Given the description of an element on the screen output the (x, y) to click on. 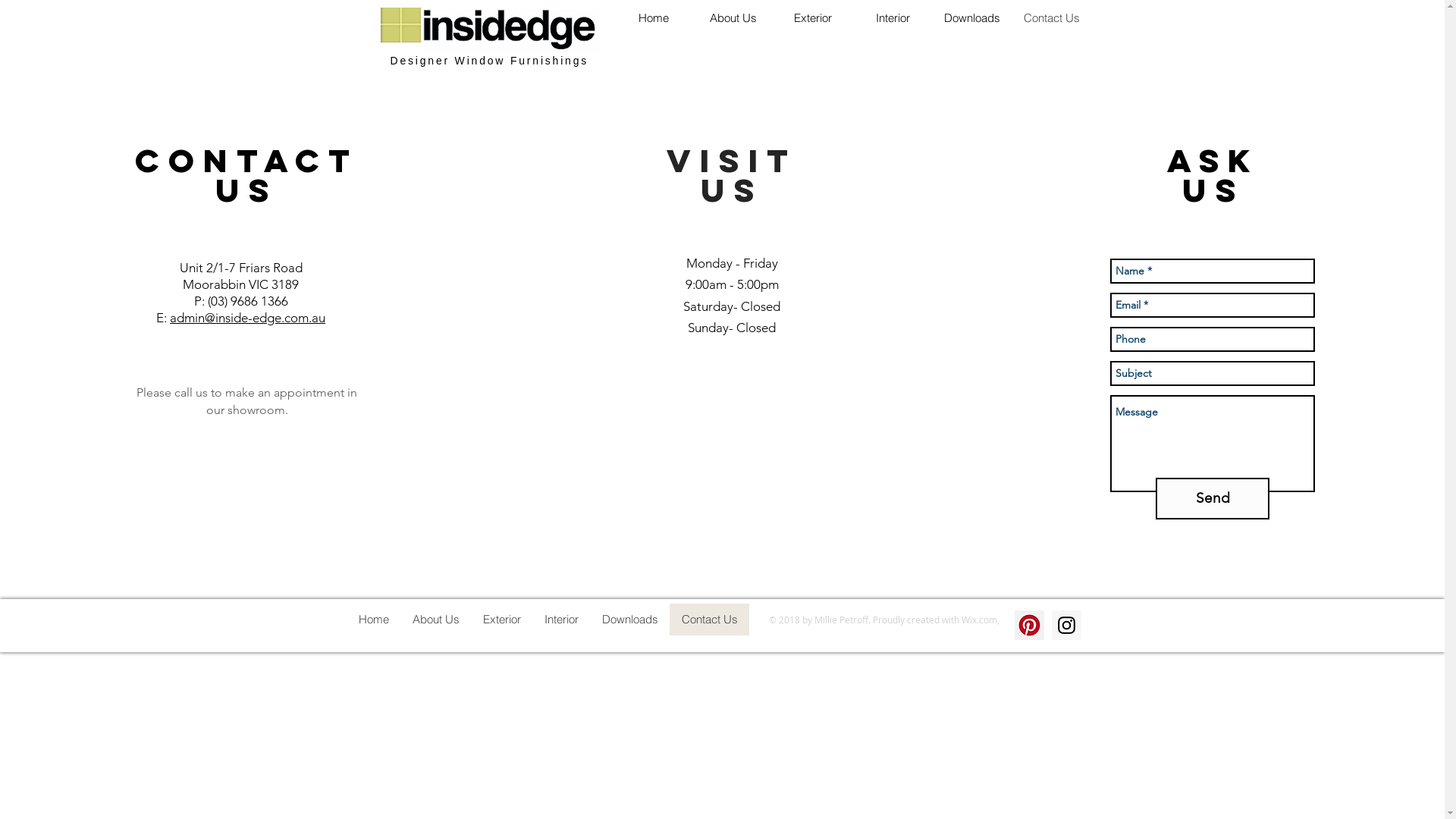
Downloads Element type: text (971, 17)
Screen Shot 2018-07-10 at 2.41.36 pm.png Element type: hover (490, 30)
Downloads Element type: text (629, 619)
Screen Shot 2018-07-14 at 1.07.31 pm.png Element type: hover (400, 24)
Send Element type: text (1212, 498)
Home Element type: text (653, 17)
About Us Element type: text (732, 17)
Contact Us Element type: text (708, 619)
Google Maps Element type: hover (735, 467)
Home Element type: text (373, 619)
admin@inside-edge.com.au Element type: text (247, 317)
Wix.com, Element type: text (980, 619)
Designer Window Furnishings Element type: text (488, 60)
About Us Element type: text (435, 619)
Contact Us Element type: text (1051, 17)
